Given the description of an element on the screen output the (x, y) to click on. 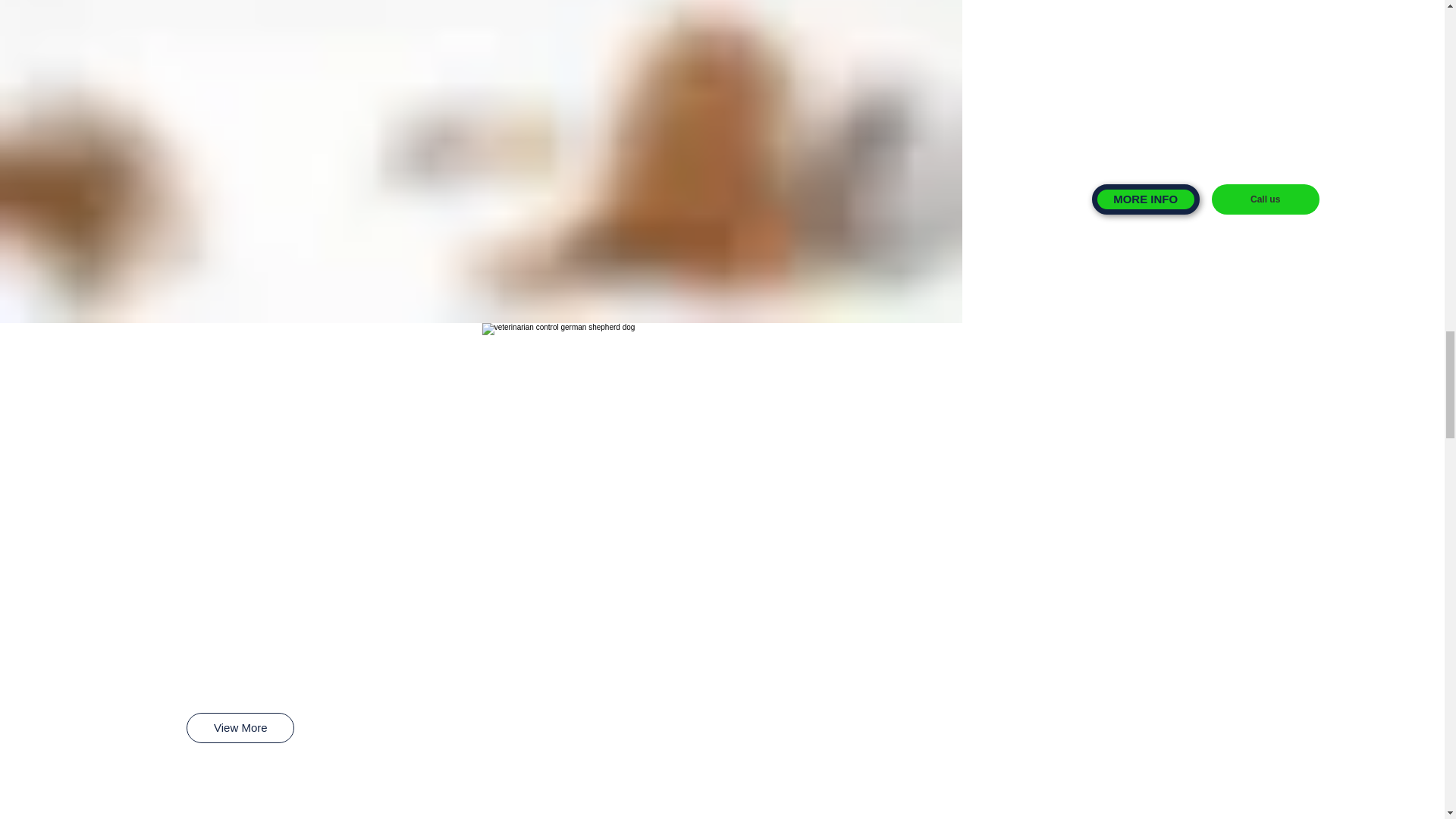
View More (240, 727)
MORE INFO (1145, 199)
Call us (1265, 199)
